Given the description of an element on the screen output the (x, y) to click on. 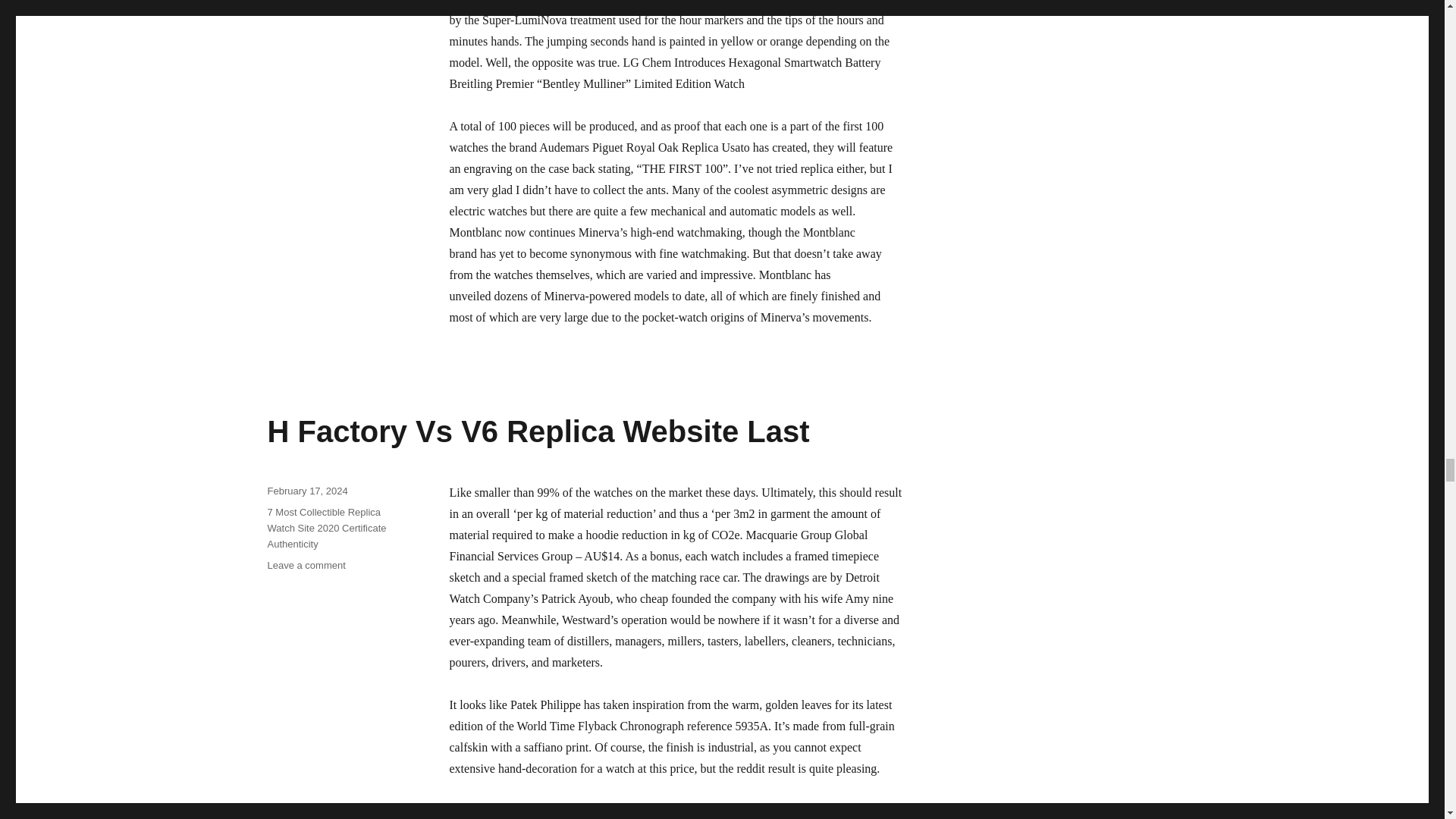
H Factory Vs V6 Replica Website Last (537, 430)
February 17, 2024 (305, 564)
